Given the description of an element on the screen output the (x, y) to click on. 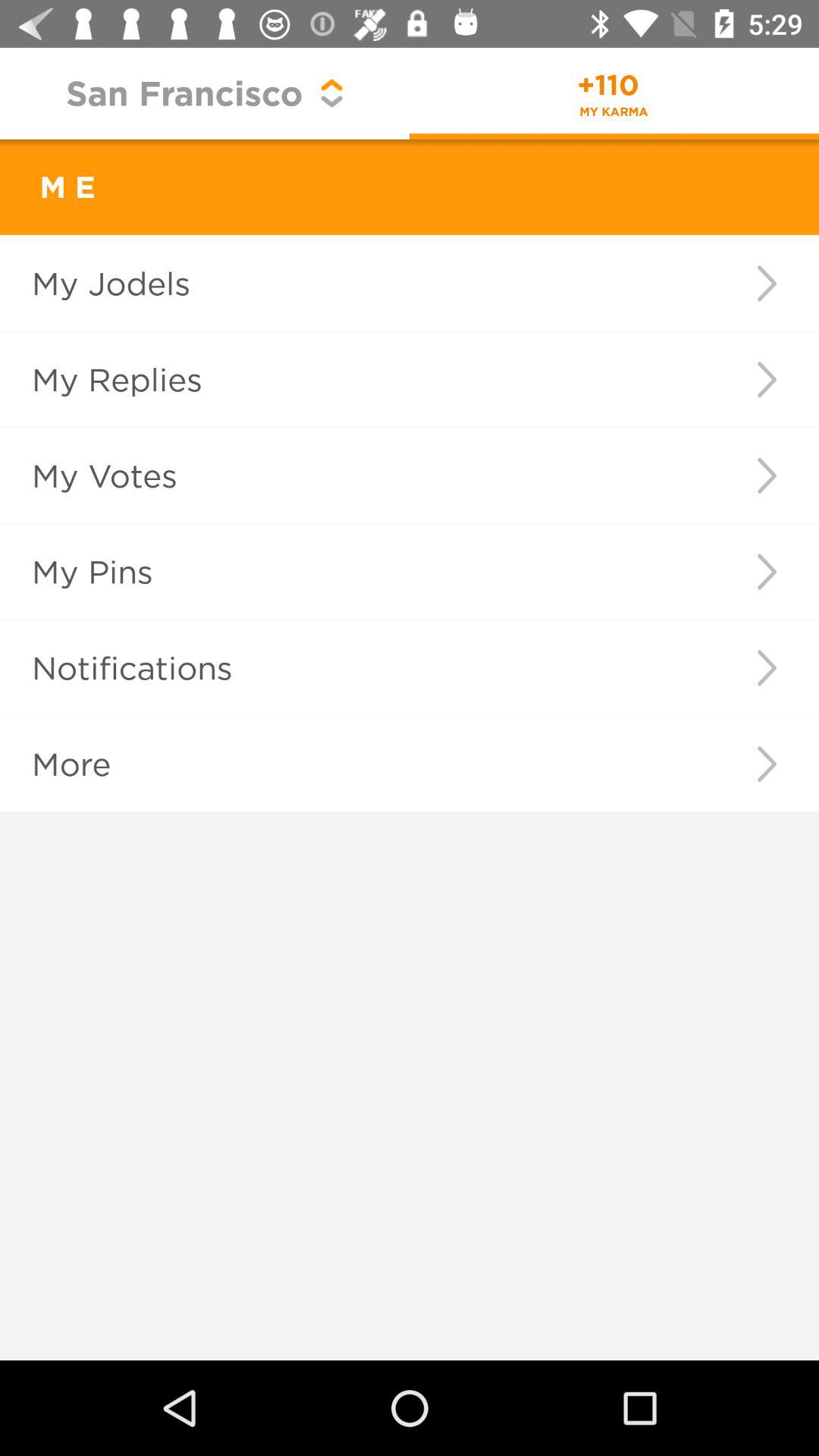
turn on icon below the notifications icon (766, 763)
